Given the description of an element on the screen output the (x, y) to click on. 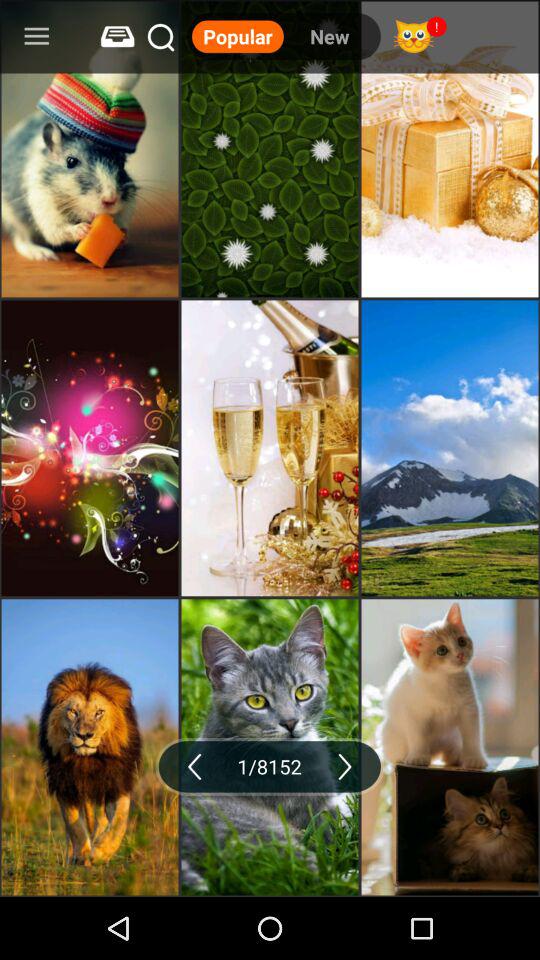
tap item to the left of the new item (237, 36)
